Given the description of an element on the screen output the (x, y) to click on. 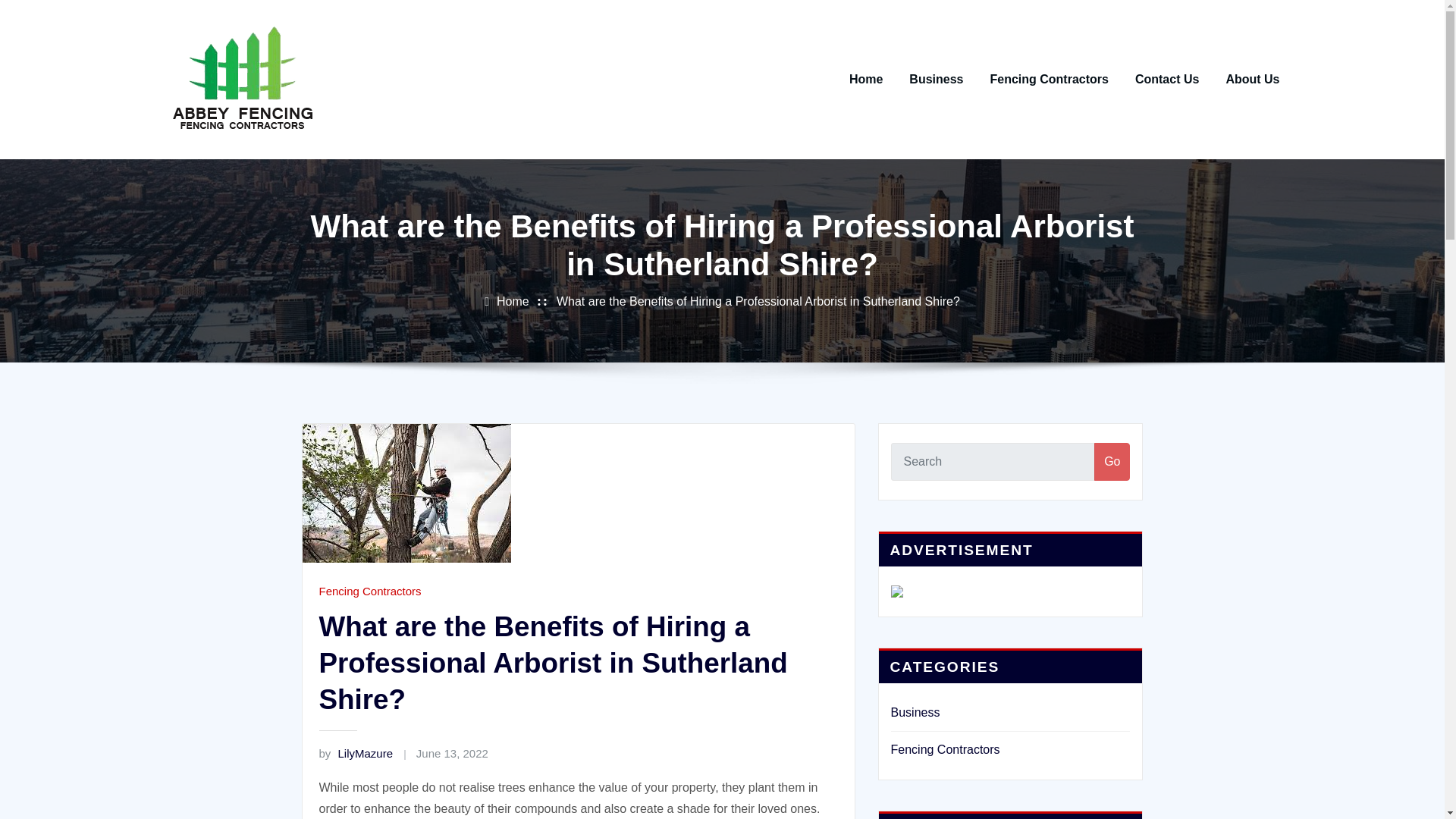
Home (512, 300)
by LilyMazure (355, 753)
Contact Us (1166, 79)
Fencing Contractors (369, 590)
June 13, 2022 (451, 753)
Fencing Contractors (1049, 79)
Home (865, 79)
Business (935, 79)
Go (1111, 461)
